Given the description of an element on the screen output the (x, y) to click on. 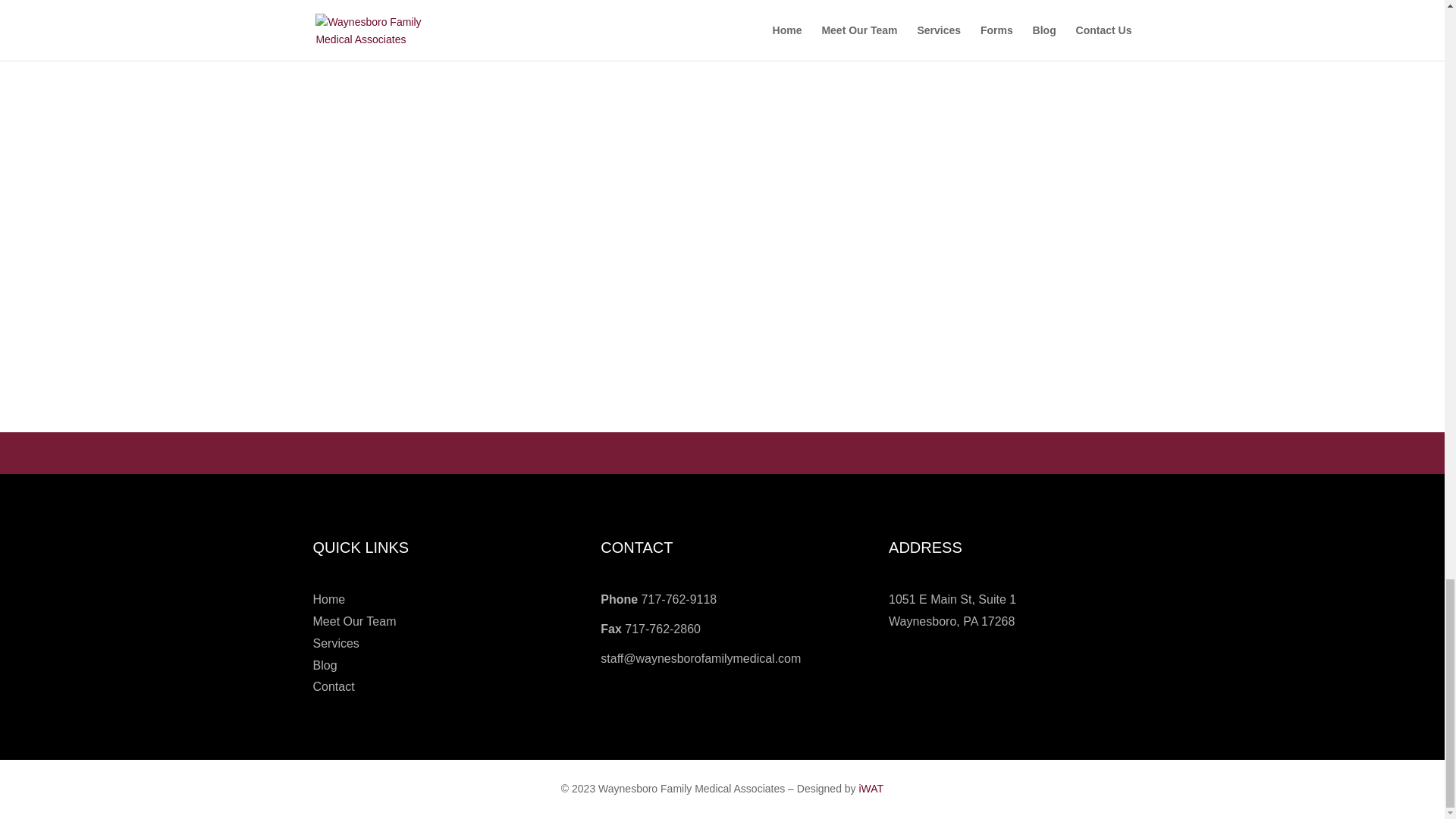
Services (335, 643)
Meet Our Team (354, 621)
Home (329, 599)
Blog (324, 665)
Phone 717-762-9118 (657, 599)
iWAT (871, 788)
Contact (333, 686)
